Given the description of an element on the screen output the (x, y) to click on. 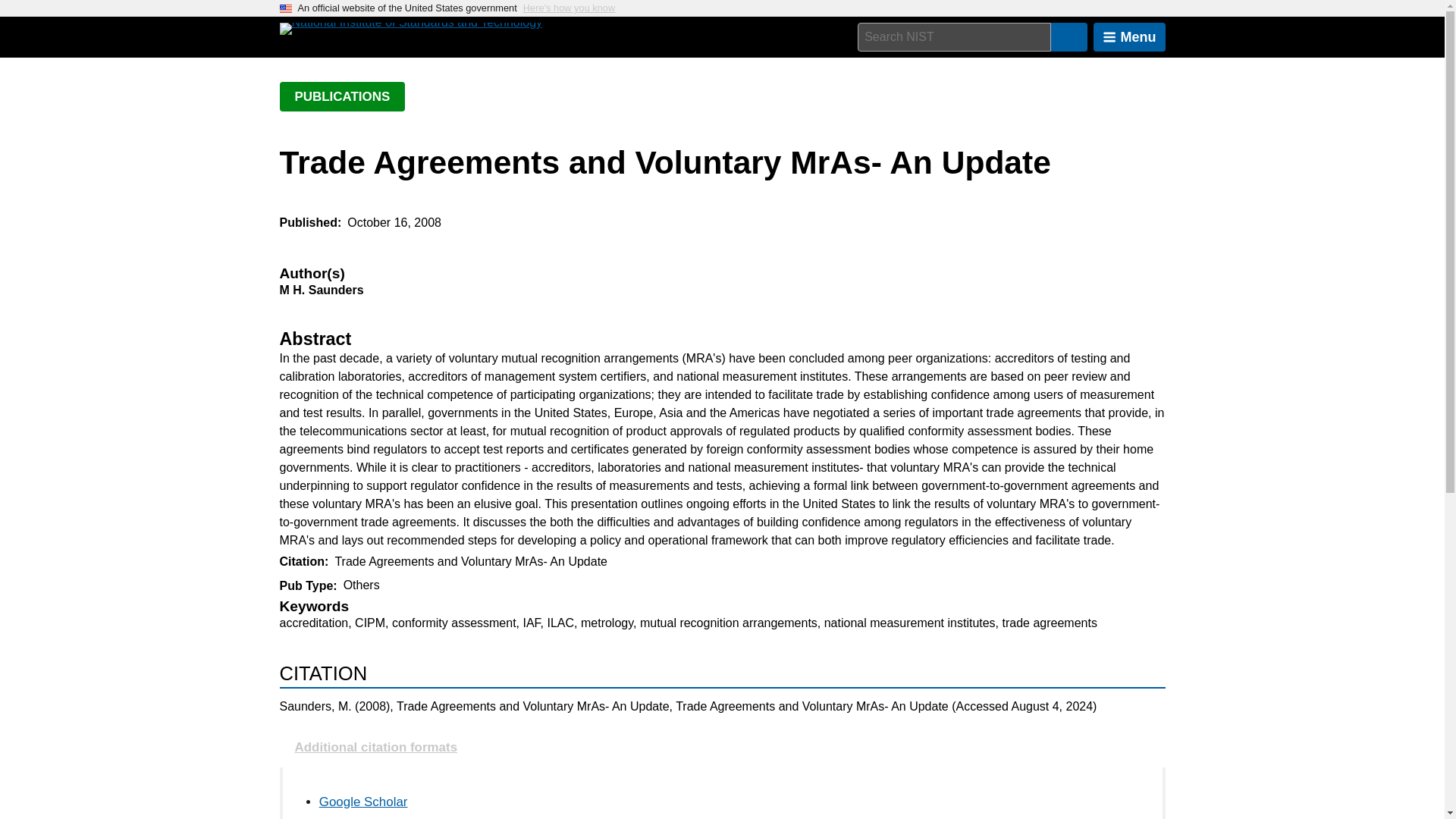
National Institute of Standards and Technology (410, 28)
Menu (1129, 36)
